Given the description of an element on the screen output the (x, y) to click on. 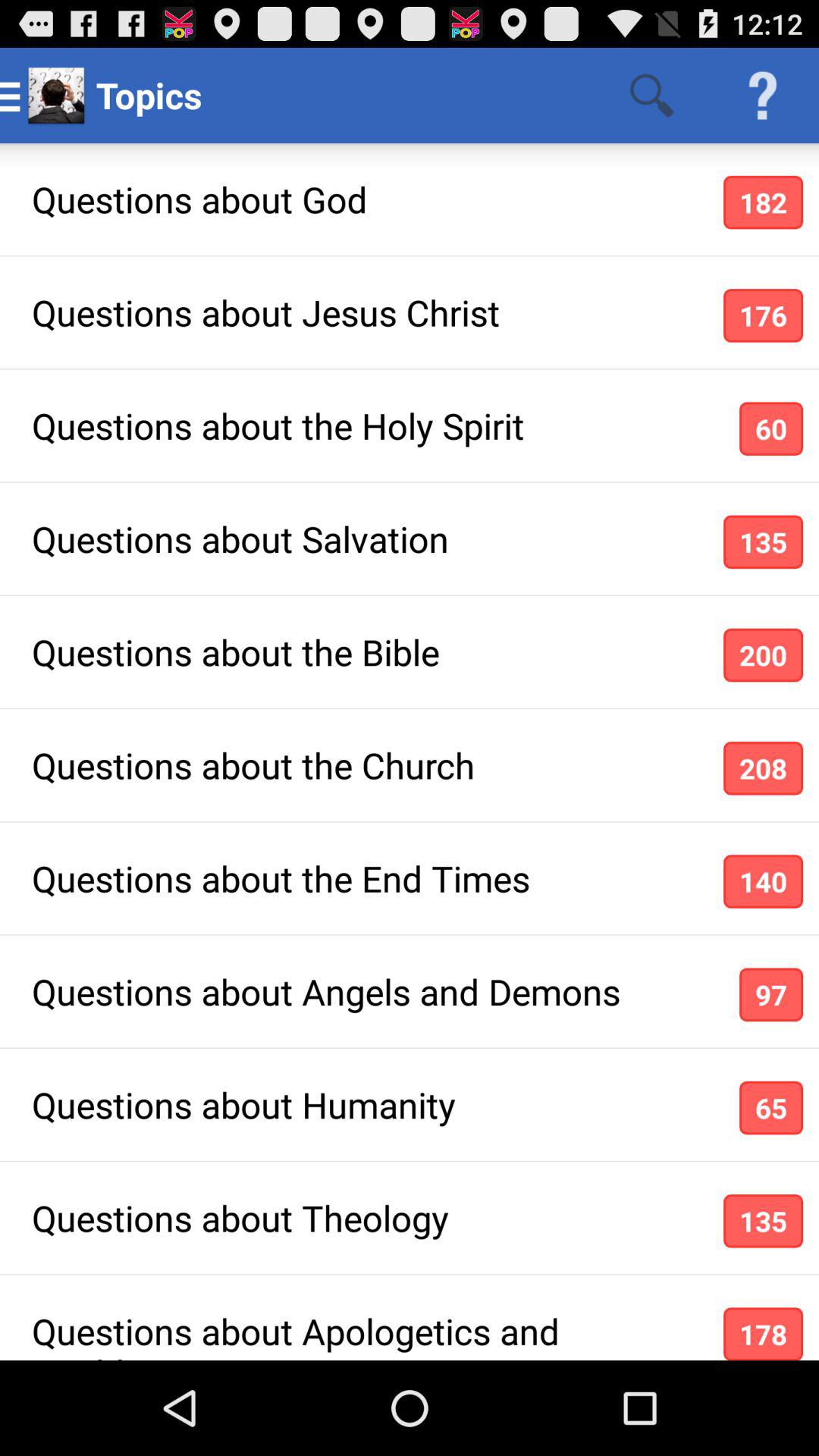
tap app next to questions about the icon (771, 428)
